Given the description of an element on the screen output the (x, y) to click on. 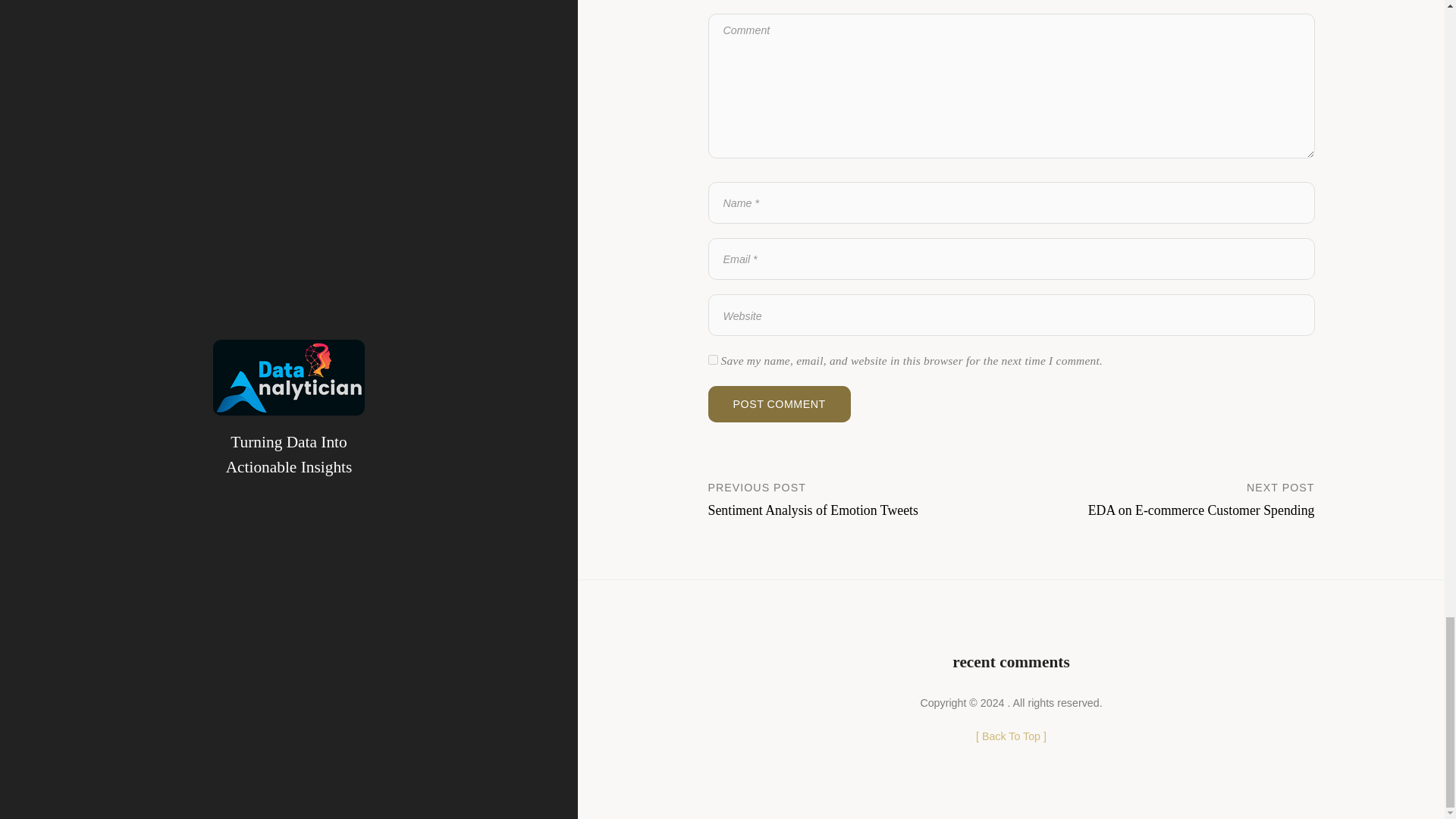
Post Comment (778, 403)
Post Comment (1162, 498)
yes (778, 403)
Back To Top (859, 498)
